Given the description of an element on the screen output the (x, y) to click on. 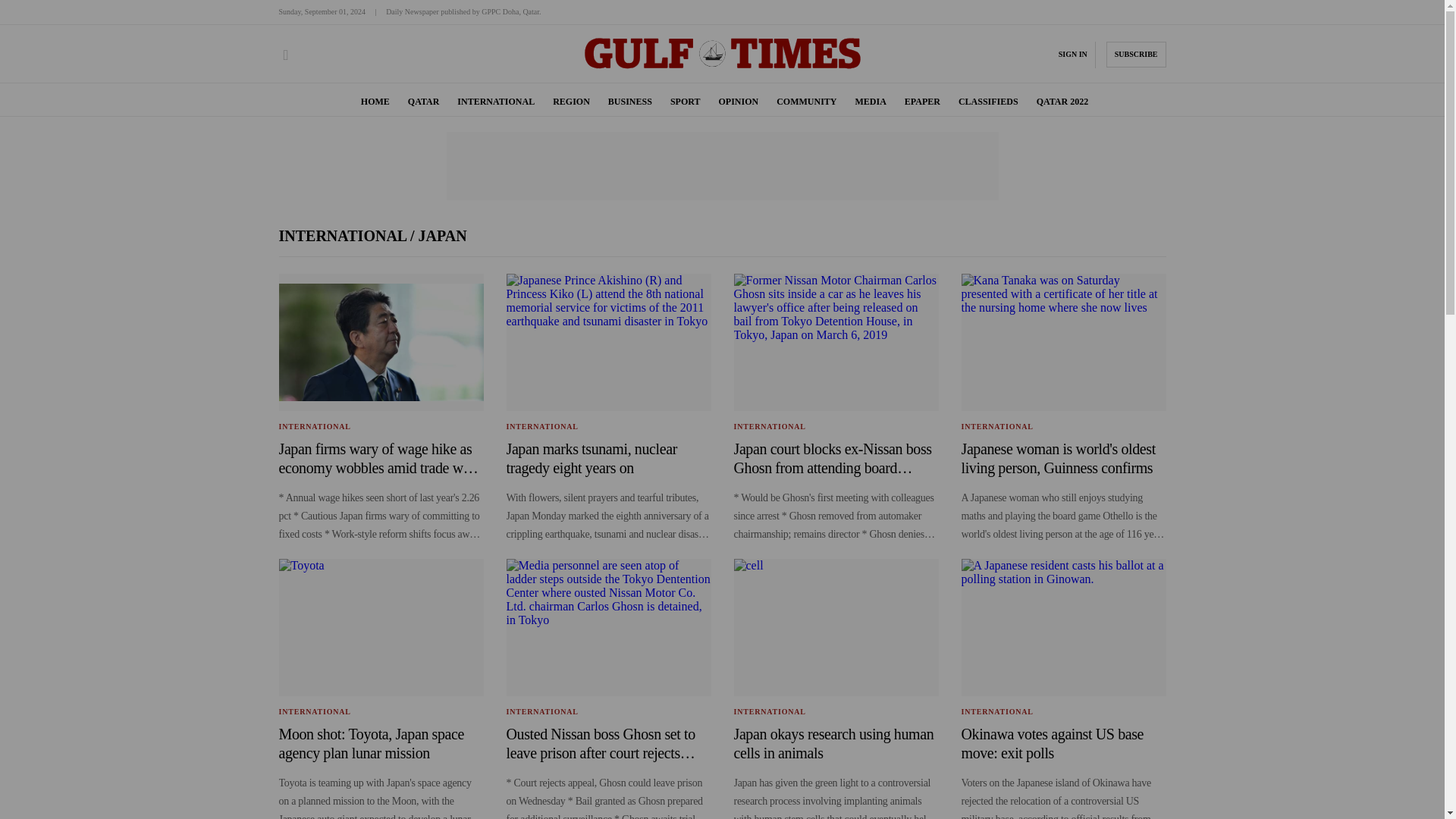
INTERNATIONAL (542, 426)
SPORT (684, 101)
EPAPER (922, 101)
INTERNATIONAL (495, 101)
REGION (571, 101)
COMMUNITY (805, 101)
COMMUNITY (805, 101)
International  (344, 235)
